Given the description of an element on the screen output the (x, y) to click on. 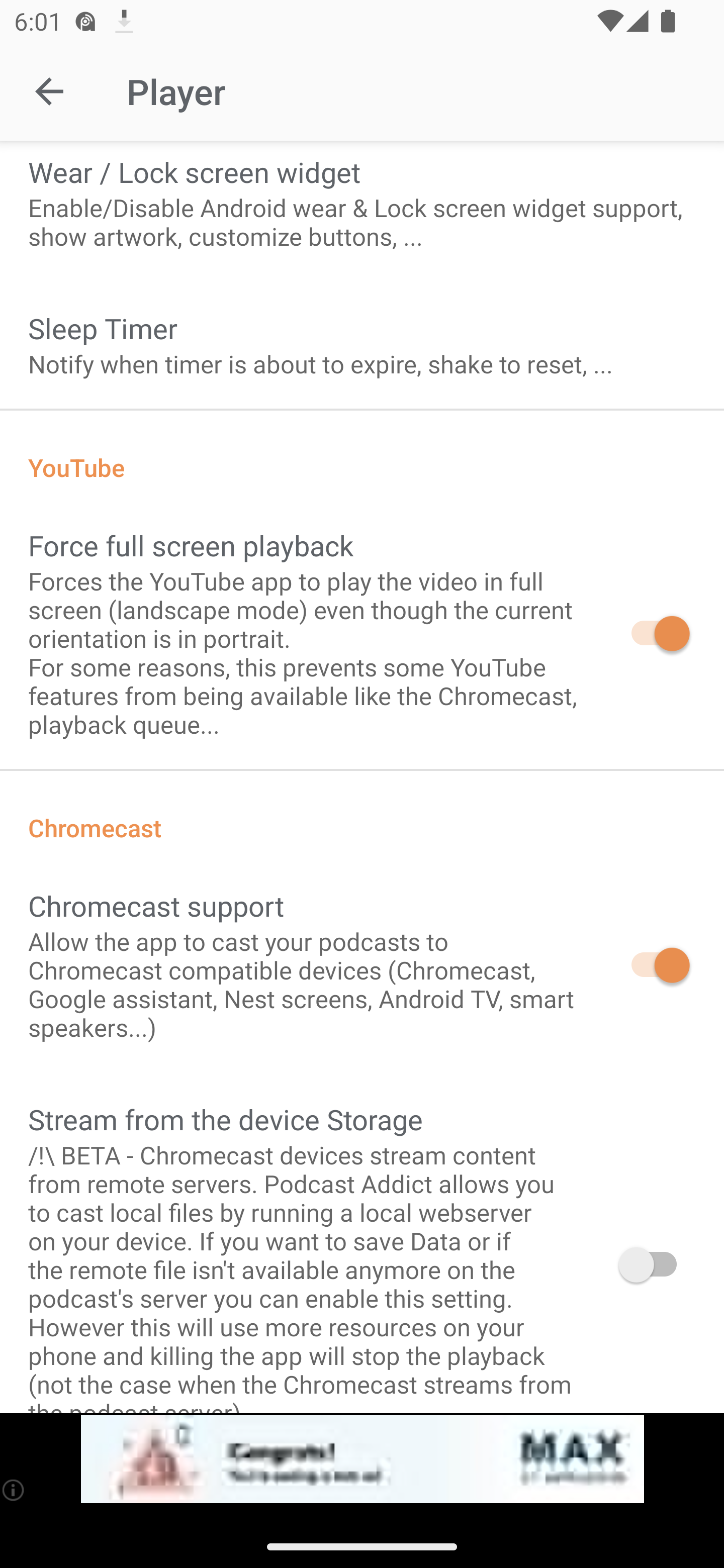
Navigate up (49, 91)
app-monetization (362, 1459)
(i) (14, 1489)
